Given the description of an element on the screen output the (x, y) to click on. 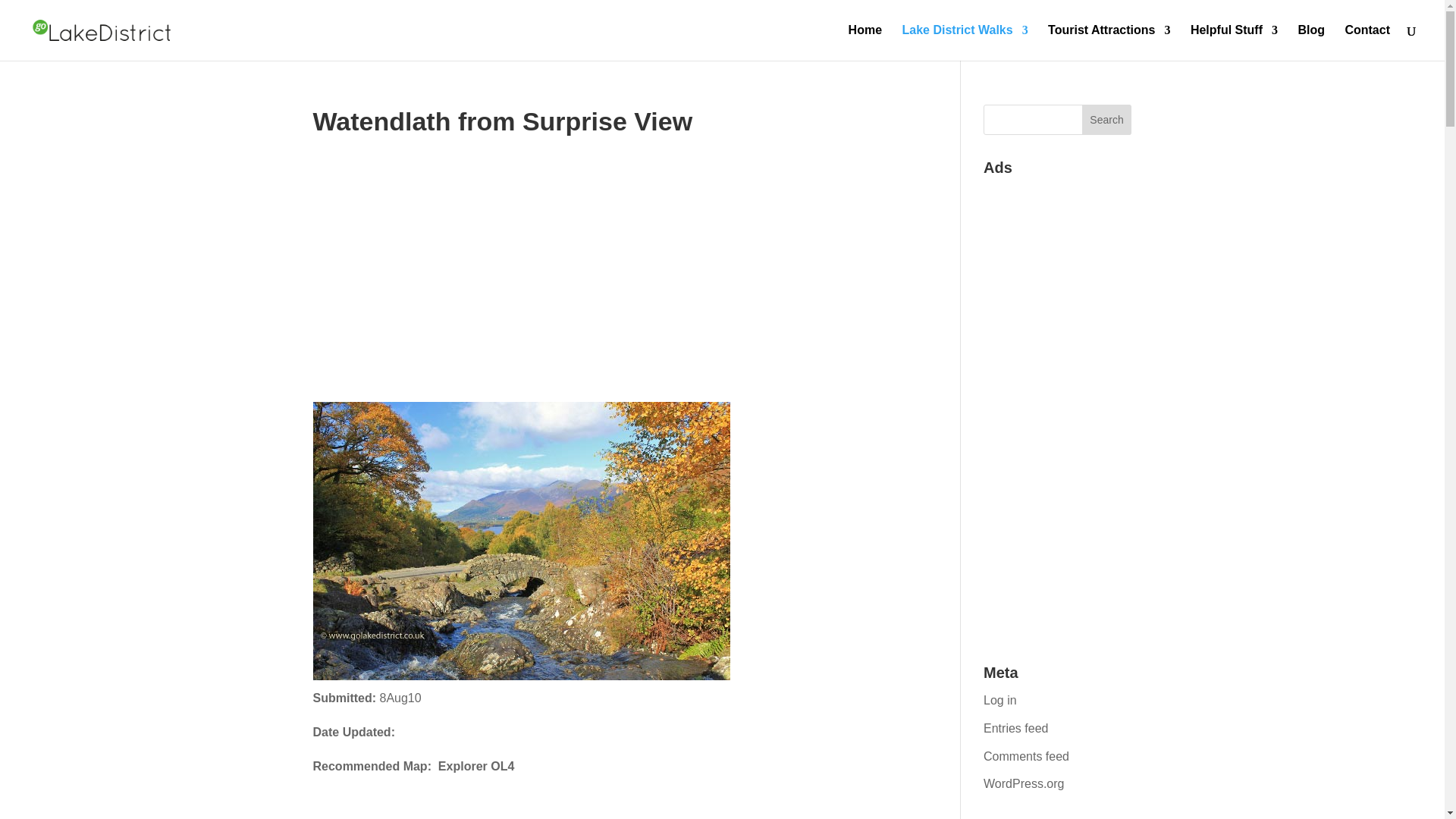
Tourist Attractions (1109, 42)
Blog (1310, 42)
Search (1106, 119)
Contact (1366, 42)
Lake District Walks (964, 42)
Home (865, 42)
Advertisement (588, 326)
Ashness Bridge, Borrowdale, Lake District (521, 541)
Helpful Stuff (1234, 42)
